Given the description of an element on the screen output the (x, y) to click on. 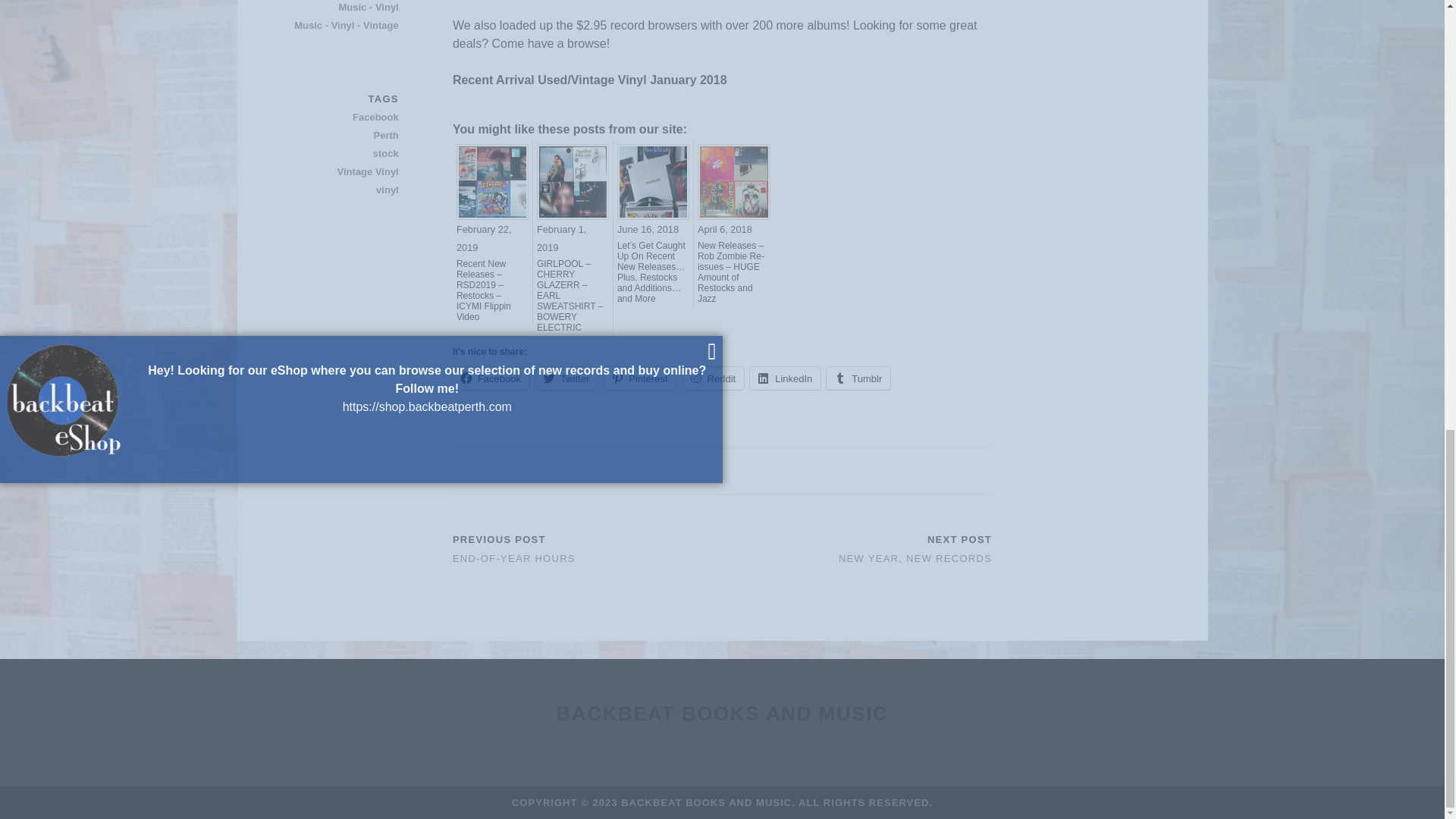
Click to share on Twitter (565, 377)
Click to share on Facebook (490, 377)
Click to share on Reddit (713, 377)
END-OF-YEAR HOURS (513, 558)
View all posts tagged Perth (344, 135)
Pinterest (639, 377)
View all posts tagged Vintage Vinyl (344, 171)
Facebook (490, 377)
Twitter (565, 377)
Tumblr (858, 377)
